Given the description of an element on the screen output the (x, y) to click on. 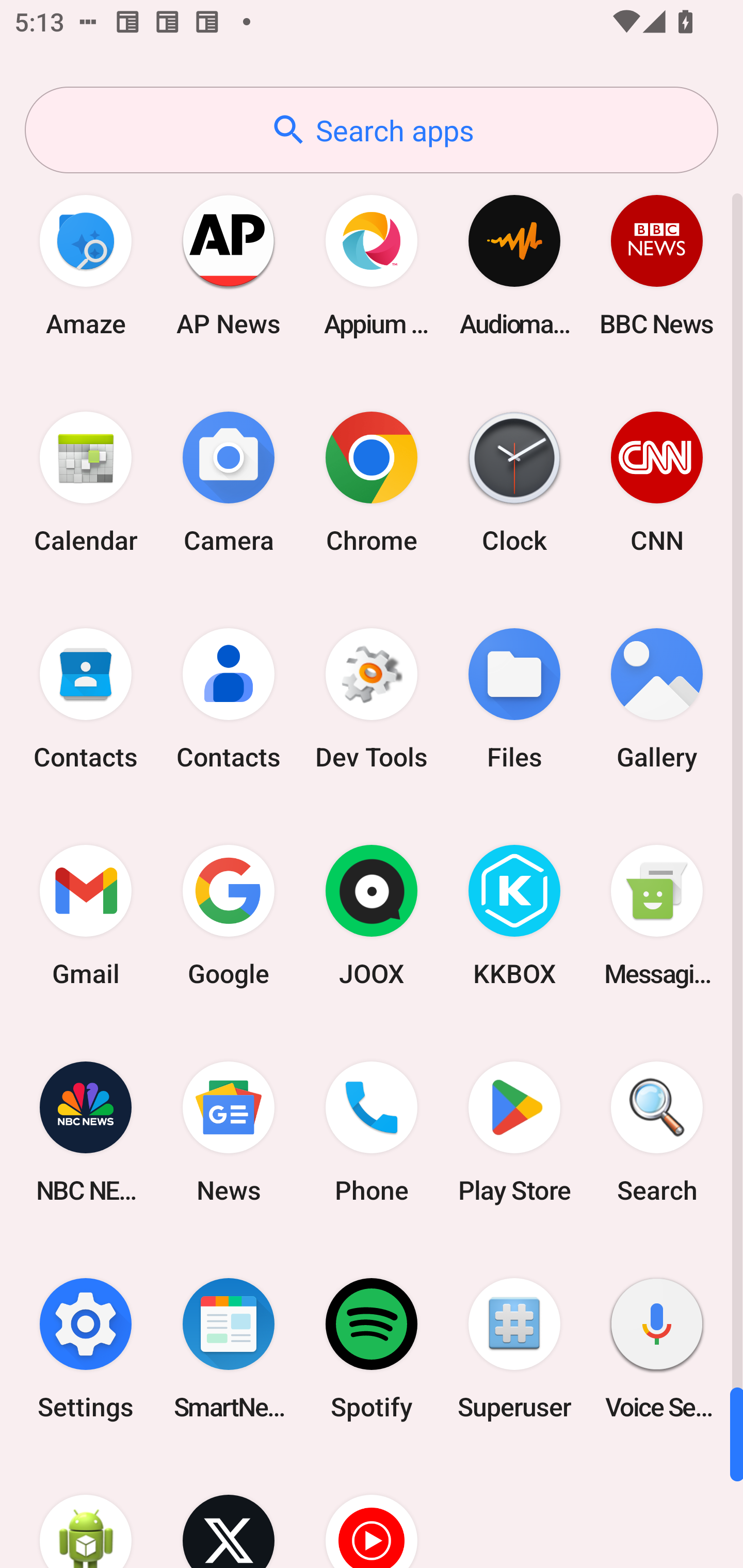
  Search apps (371, 130)
Amaze (85, 264)
AP News (228, 264)
Appium Settings (371, 264)
Audio­mack (514, 264)
BBC News (656, 264)
Calendar (85, 482)
Camera (228, 482)
Chrome (371, 482)
Clock (514, 482)
CNN (656, 482)
Contacts (85, 699)
Contacts (228, 699)
Dev Tools (371, 699)
Files (514, 699)
Gallery (656, 699)
Gmail (85, 915)
Google (228, 915)
JOOX (371, 915)
KKBOX (514, 915)
Messaging (656, 915)
NBC NEWS (85, 1131)
News (228, 1131)
Phone (371, 1131)
Play Store (514, 1131)
Search (656, 1131)
Settings (85, 1348)
SmartNews (228, 1348)
Spotify (371, 1348)
Superuser (514, 1348)
Voice Search (656, 1348)
WebView Browser Tester (85, 1512)
X (228, 1512)
YT Music (371, 1512)
